Given the description of an element on the screen output the (x, y) to click on. 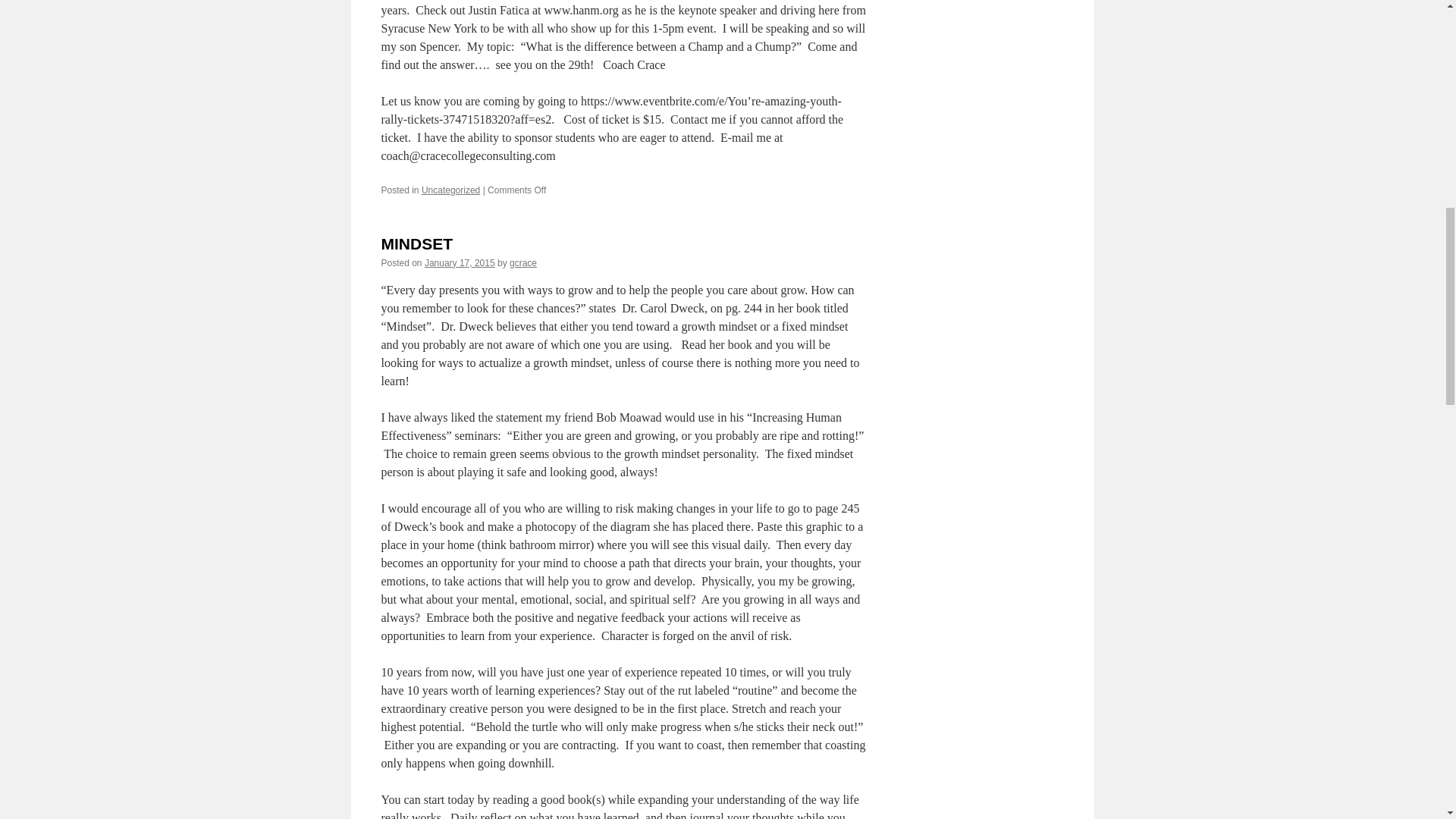
MINDSET (416, 243)
January 17, 2015 (460, 262)
gcrace (523, 262)
Uncategorized (451, 190)
View all posts by gcrace (523, 262)
4:08 pm (460, 262)
